Given the description of an element on the screen output the (x, y) to click on. 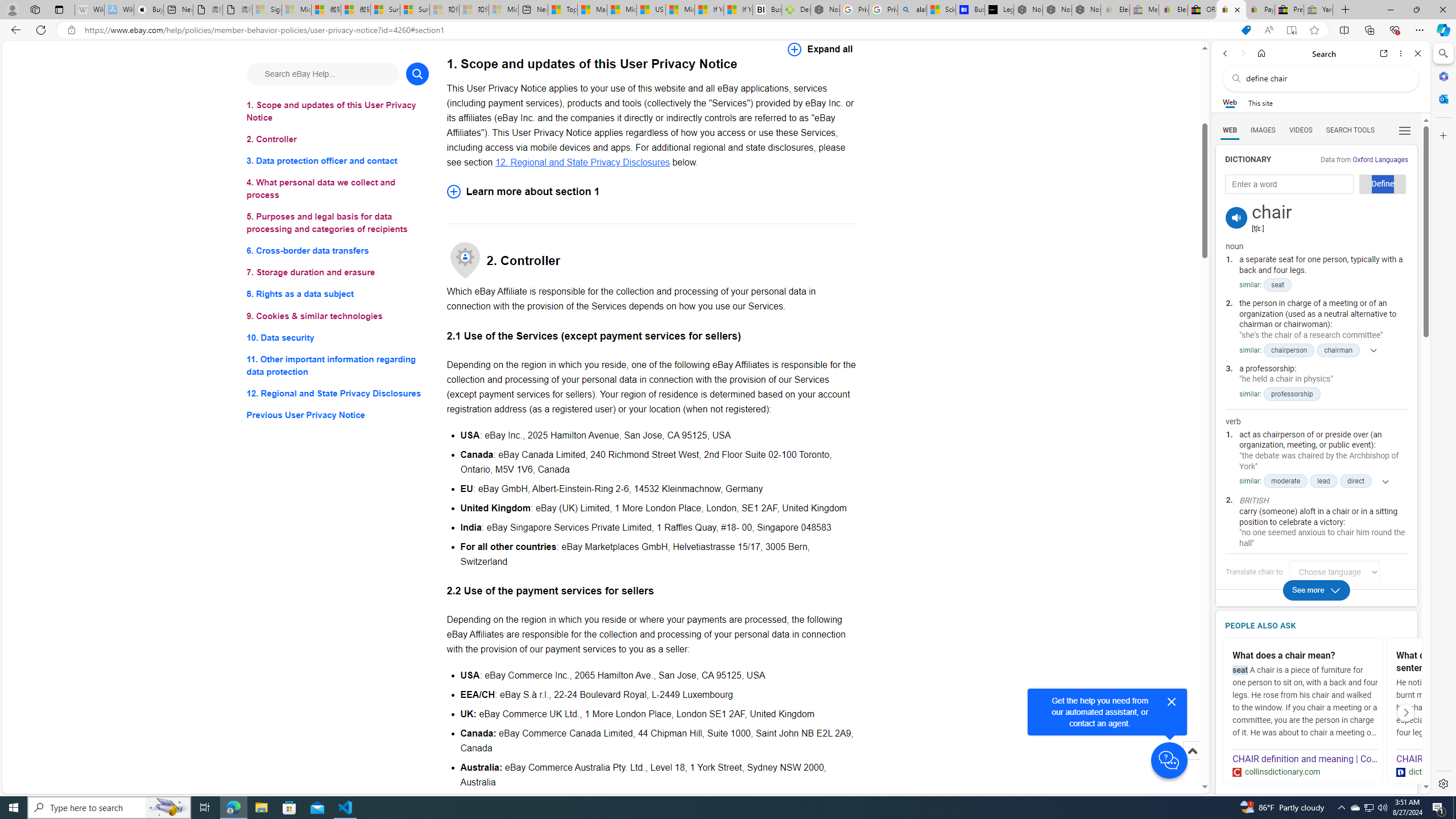
7. Storage duration and erasure (337, 272)
8. Rights as a data subject (337, 293)
Previous User Privacy Notice (337, 414)
11. Other important information regarding data protection (337, 365)
